Given the description of an element on the screen output the (x, y) to click on. 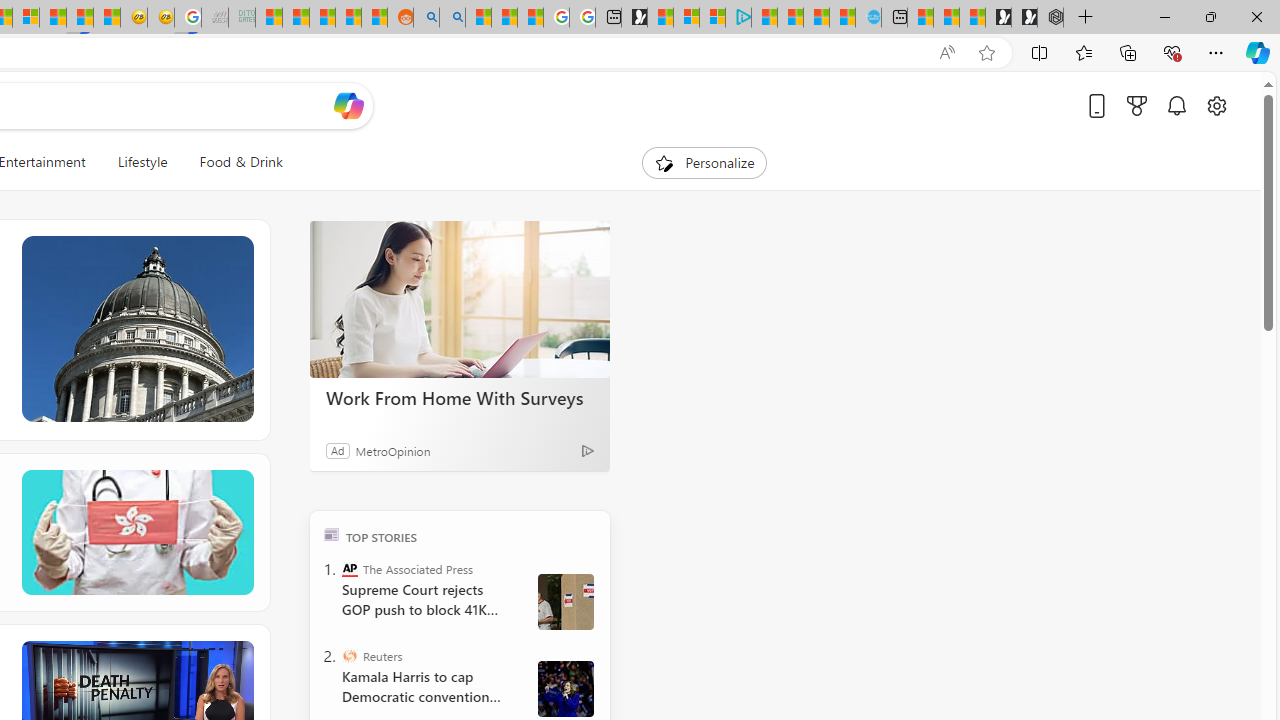
Student Loan Update: Forgiveness Program Ends This Month (347, 17)
TOP (331, 534)
